Given the description of an element on the screen output the (x, y) to click on. 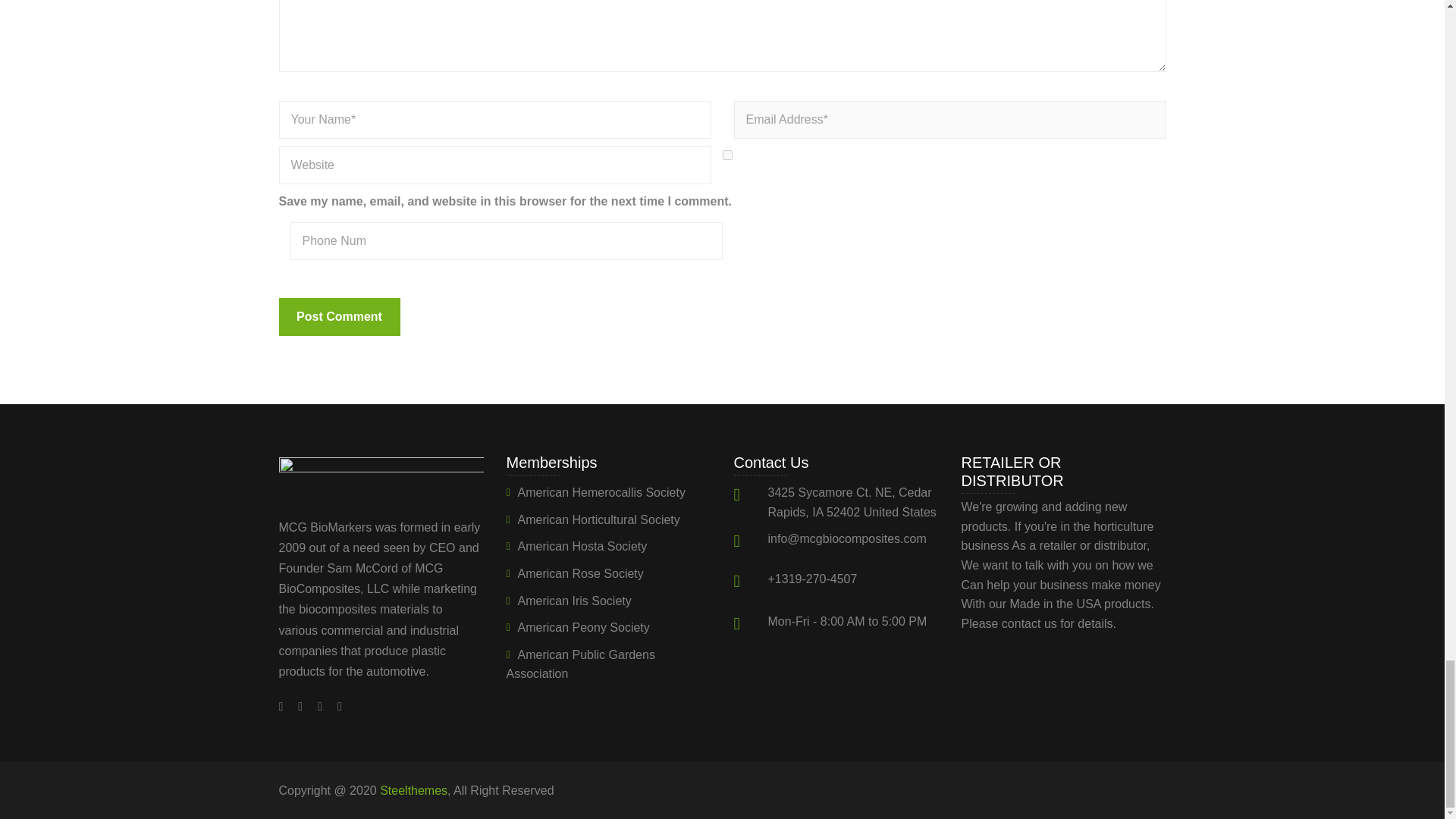
Linkedin (336, 706)
Twitter (299, 706)
Facebook (285, 706)
Skype (320, 706)
yes (727, 154)
Post Comment (339, 316)
